Given the description of an element on the screen output the (x, y) to click on. 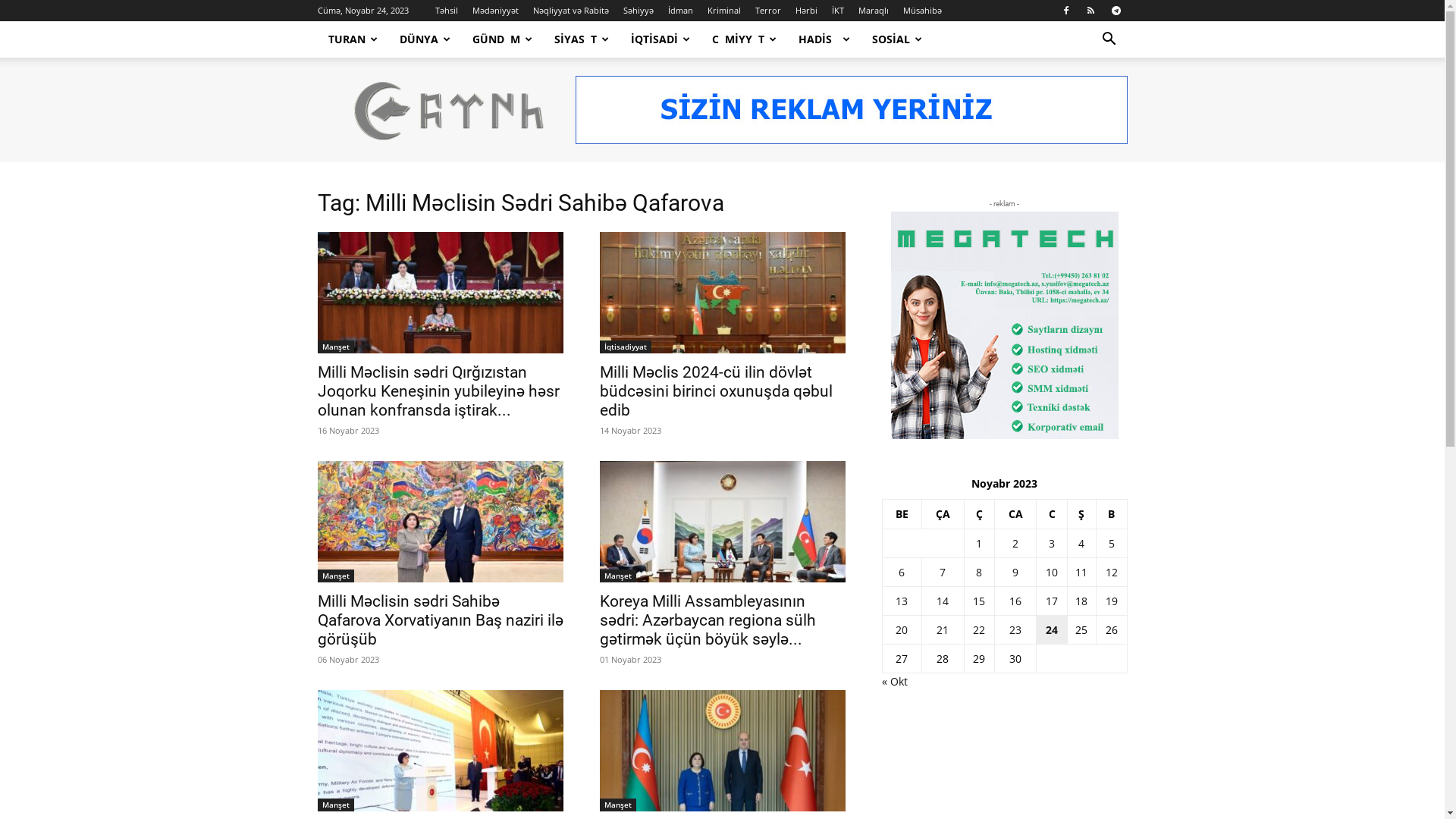
11 Element type: text (1081, 571)
6 Element type: text (901, 571)
Terror Element type: text (768, 9)
Kriminal Element type: text (723, 9)
24 Element type: text (1051, 629)
20 Element type: text (901, 629)
5 Element type: text (1111, 543)
13 Element type: text (901, 600)
14 Element type: text (942, 600)
12 Element type: text (1111, 571)
1 Element type: text (978, 543)
3 Element type: text (1051, 543)
9 Element type: text (1015, 571)
2 Element type: text (1015, 543)
Facebook Element type: hover (1065, 10)
7 Element type: text (942, 571)
17 Element type: text (1051, 600)
23 Element type: text (1015, 629)
16 Element type: text (1015, 600)
21 Element type: text (942, 629)
8 Element type: text (978, 571)
15 Element type: text (978, 600)
Telegram Element type: hover (1115, 10)
10 Element type: text (1051, 571)
19 Element type: text (1111, 600)
4 Element type: text (1081, 543)
SOSIAL Element type: text (897, 39)
TURAN Element type: text (352, 39)
22 Element type: text (978, 629)
RSS Element type: hover (1090, 10)
18 Element type: text (1081, 600)
